Given the description of an element on the screen output the (x, y) to click on. 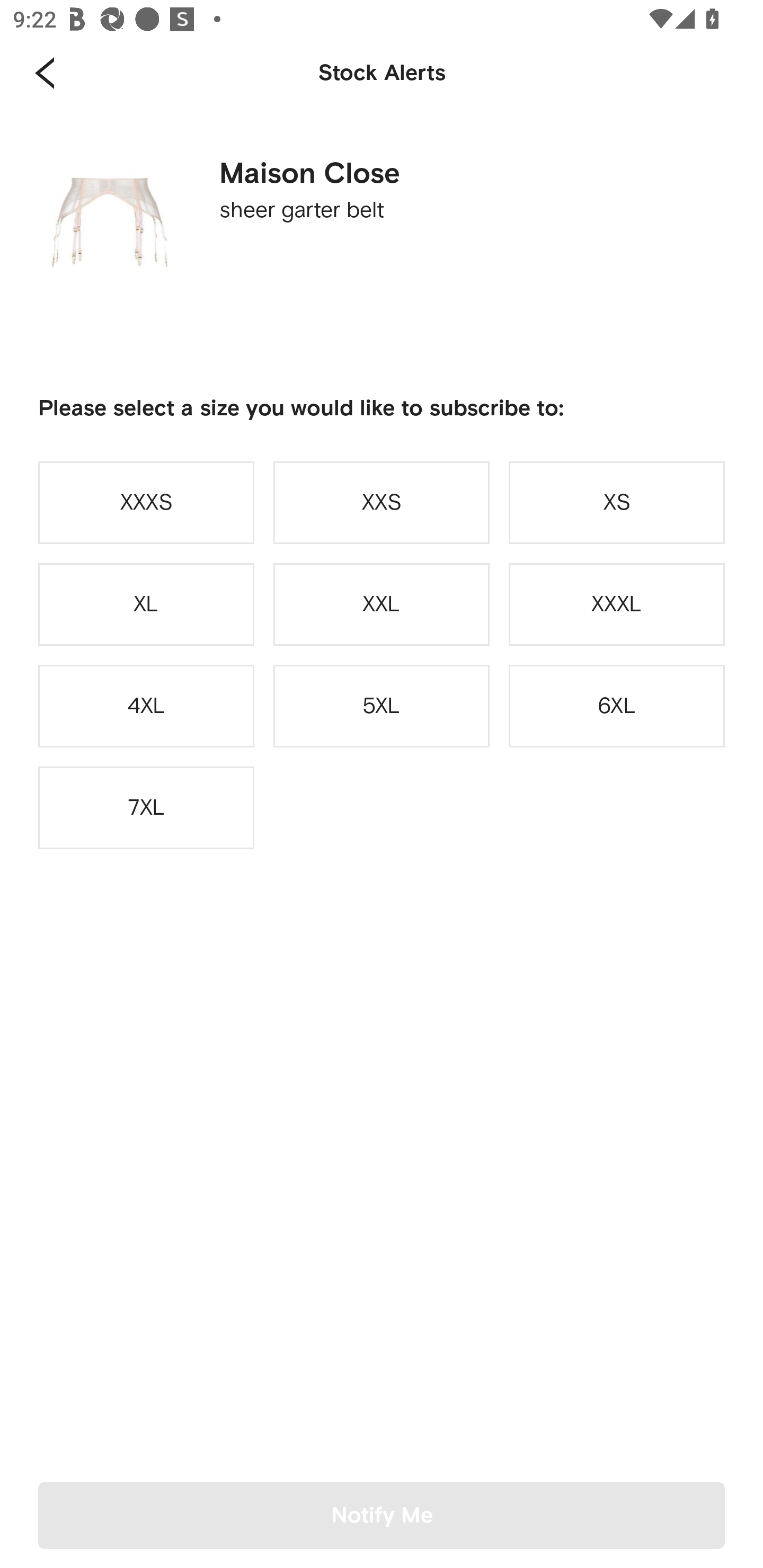
XXXS (146, 502)
XXS (381, 502)
XS (616, 502)
XL (146, 604)
XXL (381, 604)
XXXL (616, 604)
4XL (146, 705)
5XL (381, 705)
6XL (616, 705)
7XL (146, 807)
Notify Me (381, 1515)
